Given the description of an element on the screen output the (x, y) to click on. 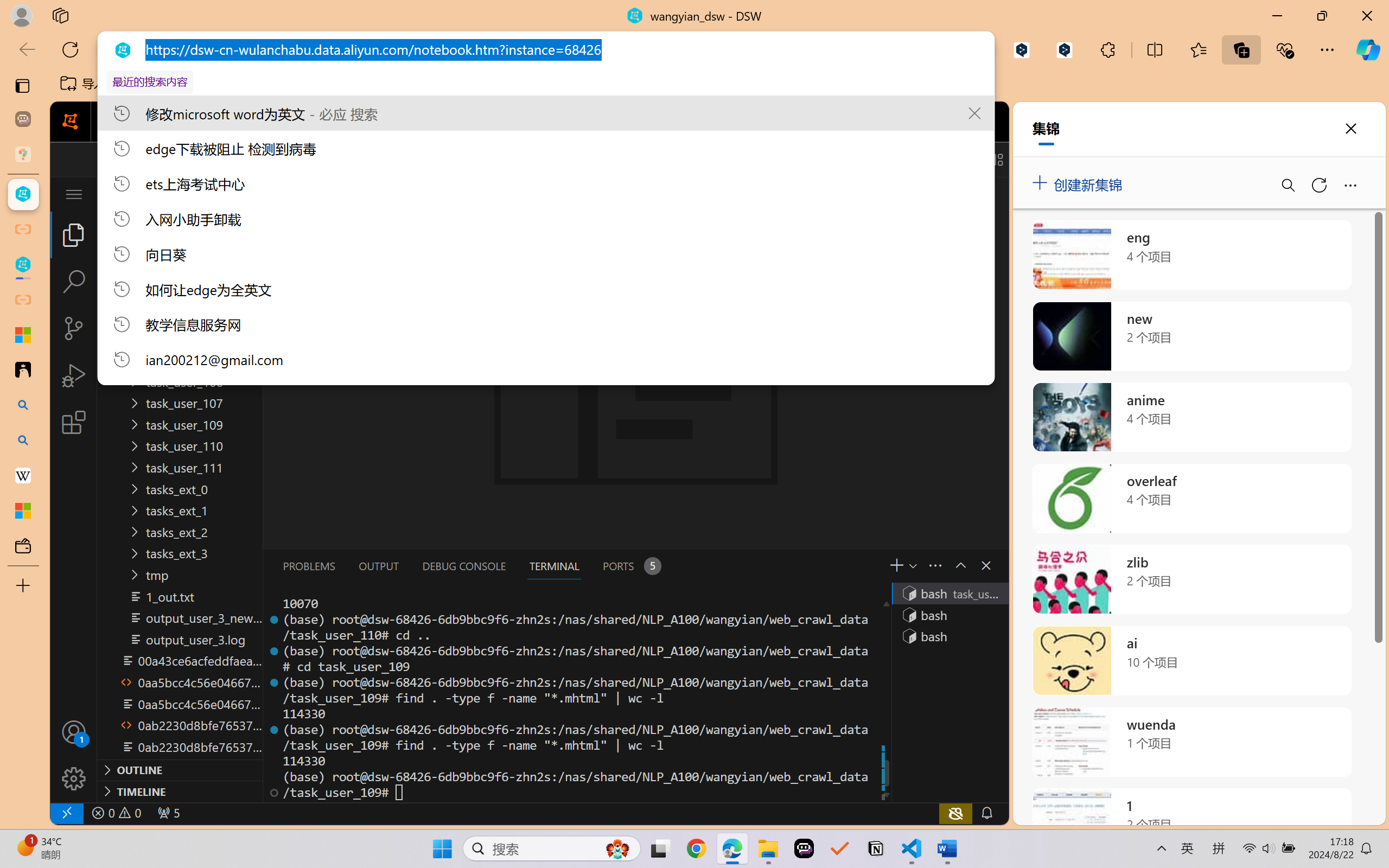
SJTUvpn (419, 83)
Extensions (Ctrl+Shift+X) (73, 422)
Explorer Section: workspace (179, 221)
WebIDE (463, 121)
Problems (Ctrl+Shift+M) (308, 565)
Adjust indents and spacing - Microsoft Support (22, 334)
Terminal 3 bash (949, 635)
Class: xterm-decoration-overview-ruler (885, 697)
icon (930, 119)
